Given the description of an element on the screen output the (x, y) to click on. 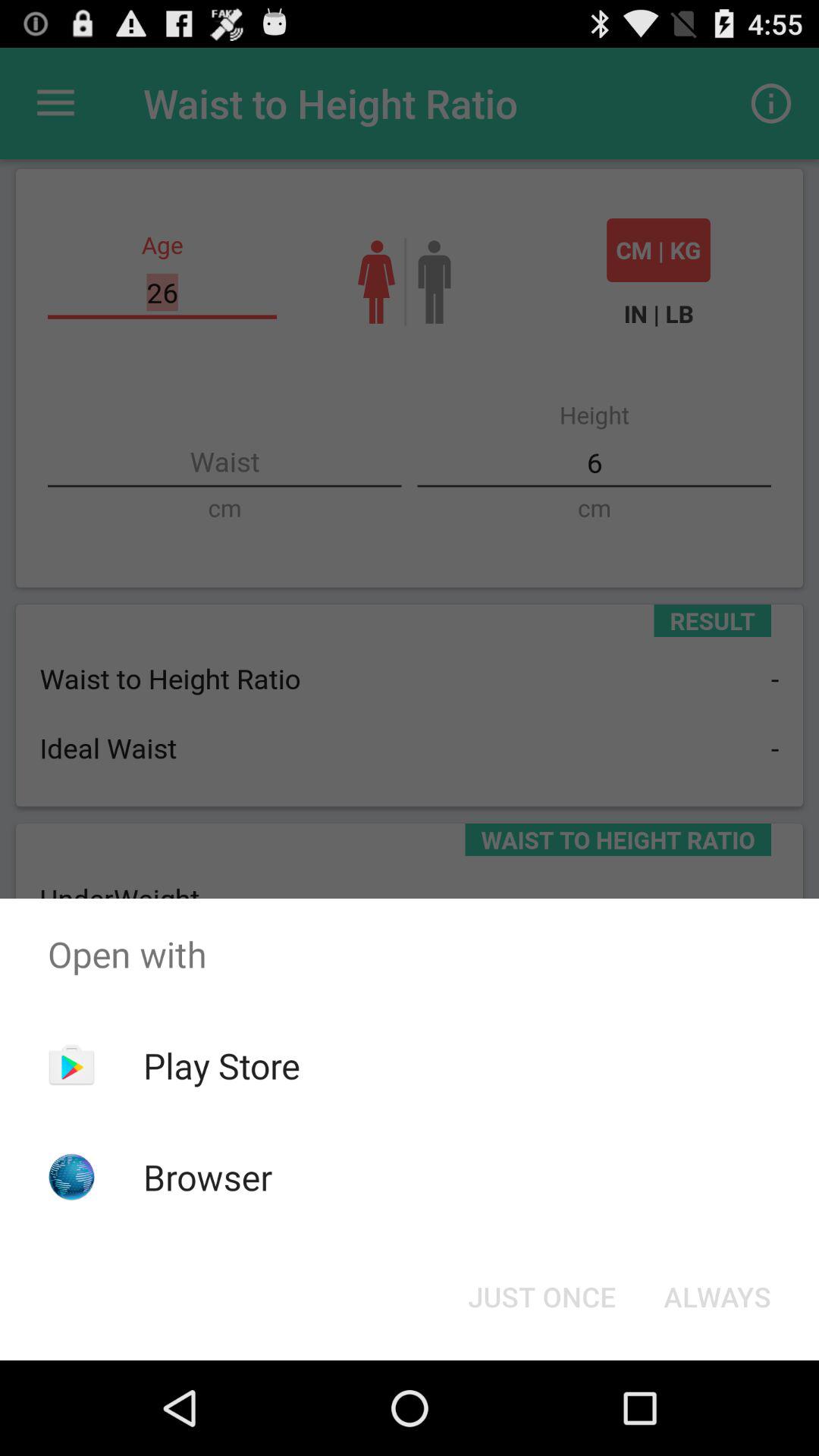
press the always (717, 1296)
